Given the description of an element on the screen output the (x, y) to click on. 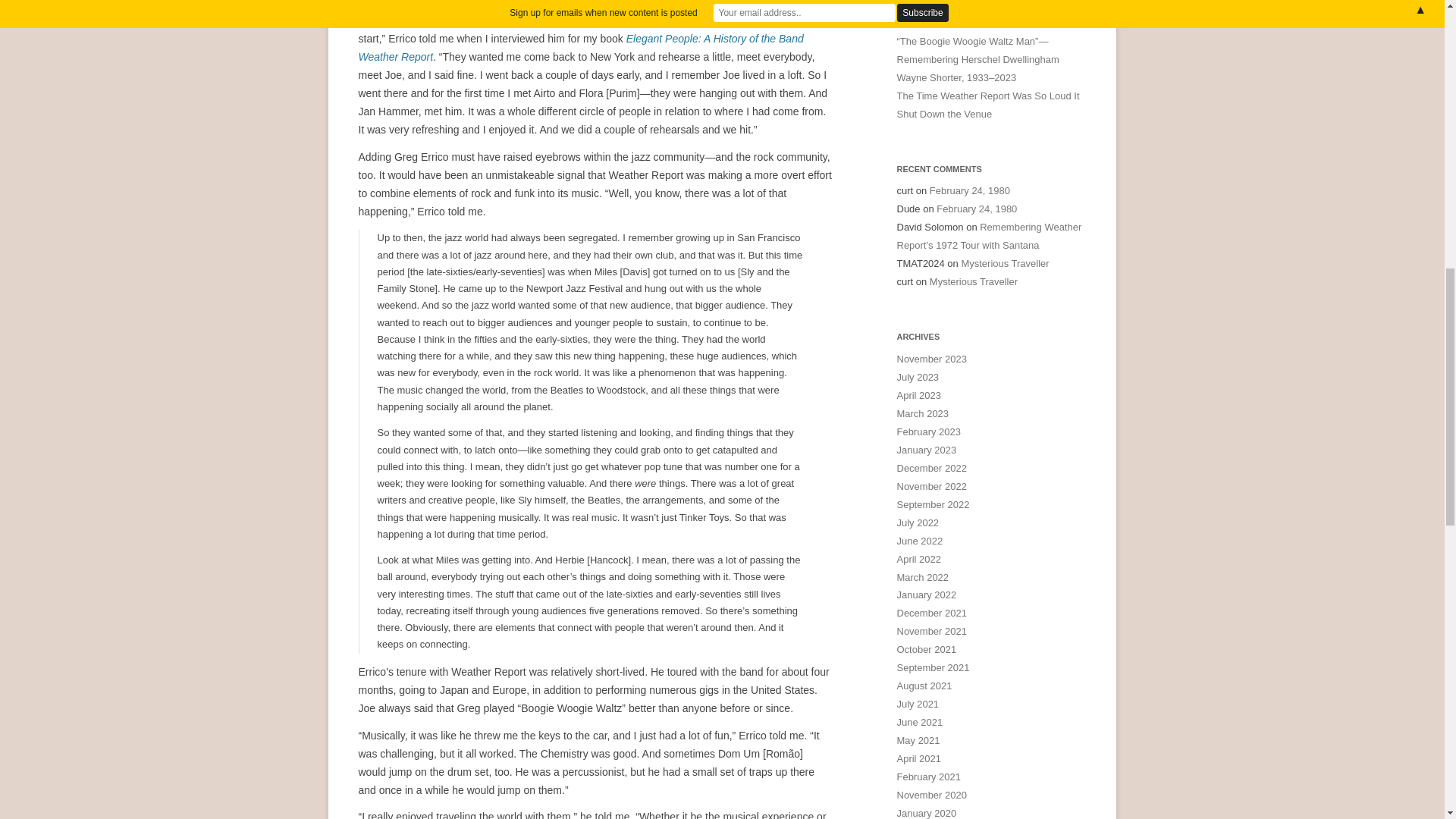
Elegant People: A History of the Band Weather Report (580, 47)
